Given the description of an element on the screen output the (x, y) to click on. 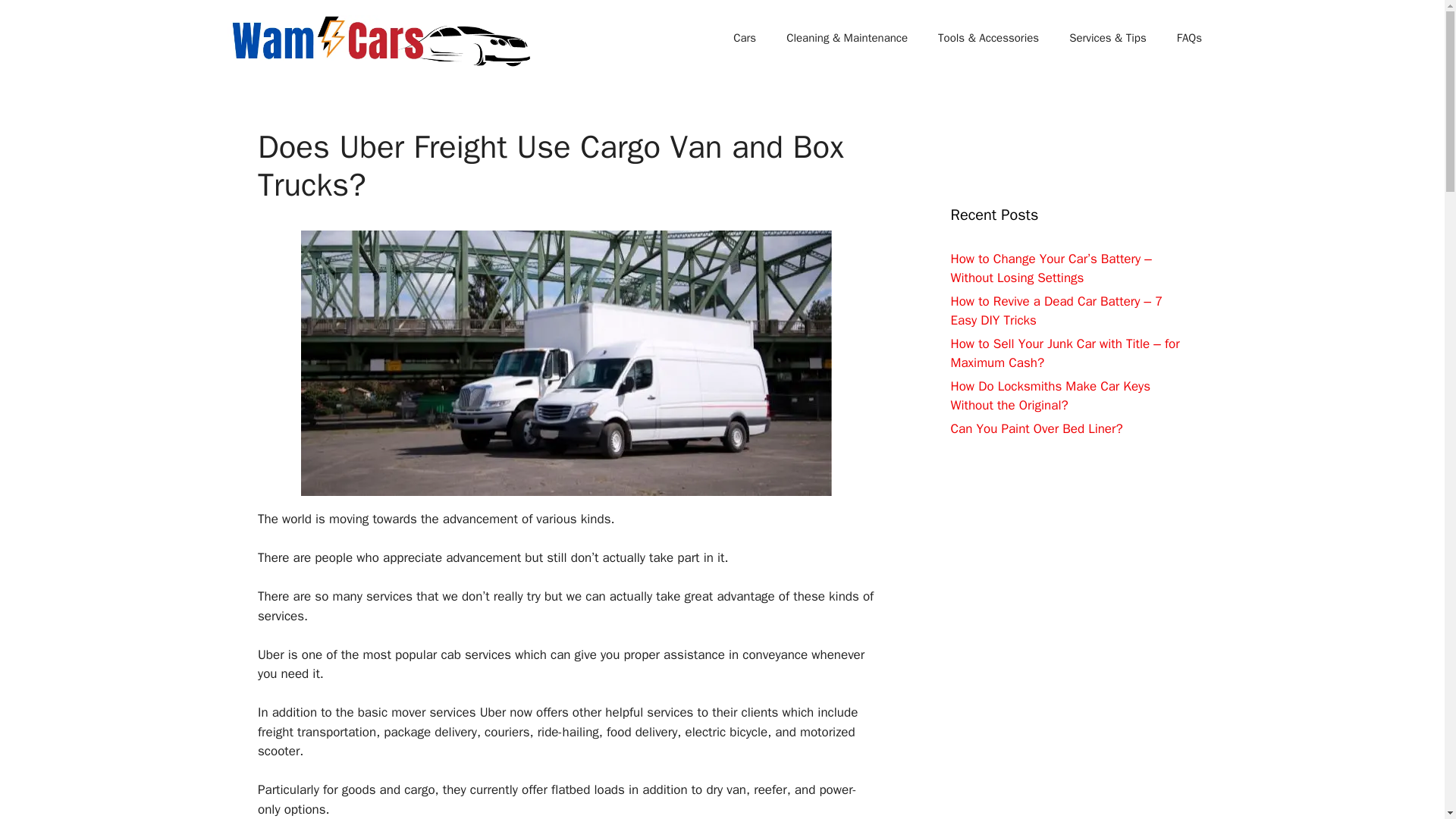
Can You Paint Over Bed Liner? (1036, 428)
Cars (744, 37)
FAQs (1189, 37)
How Do Locksmiths Make Car Keys Without the Original? (1050, 396)
